Given the description of an element on the screen output the (x, y) to click on. 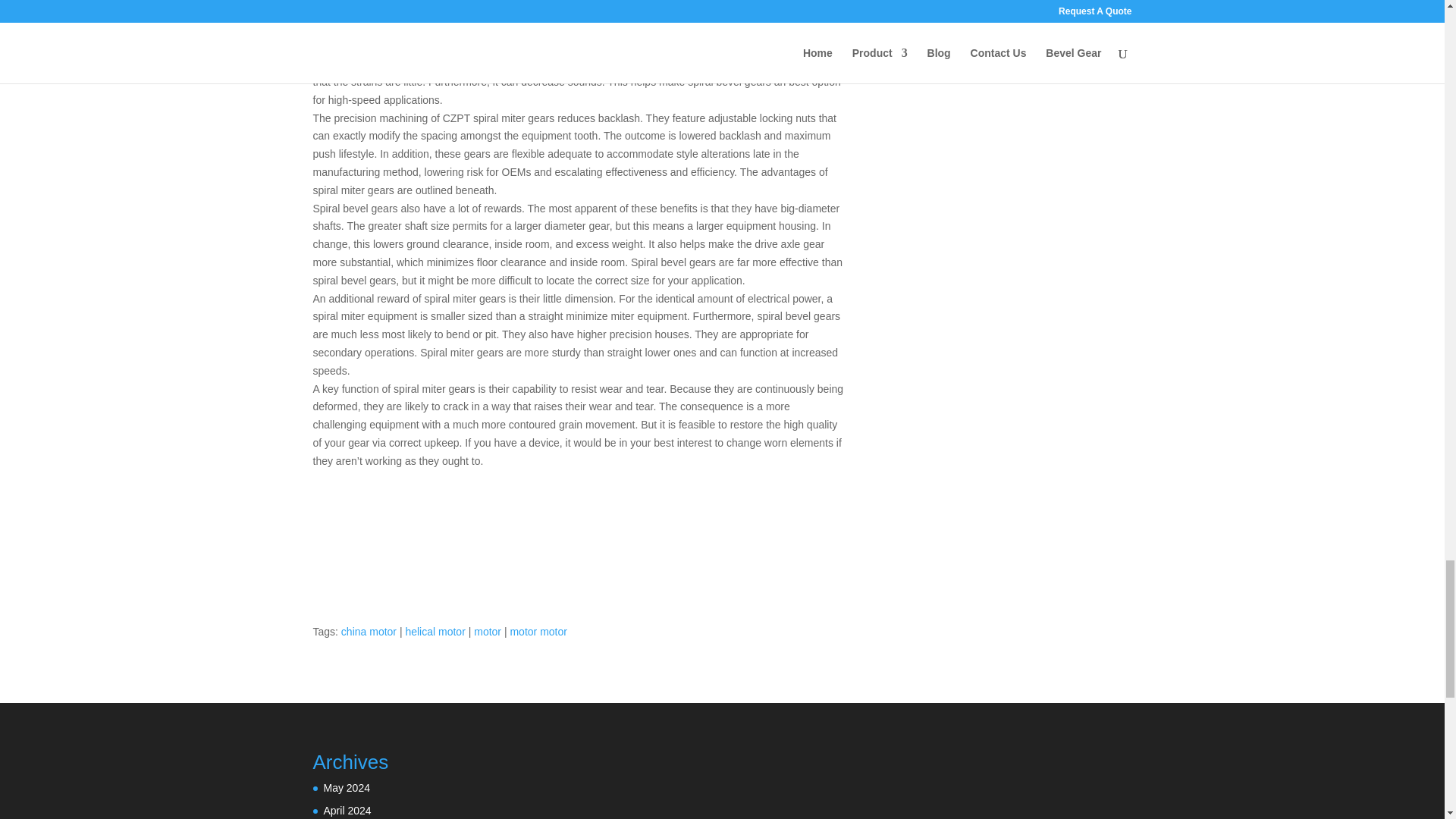
helical motor (434, 631)
china motor (368, 631)
motor motor (537, 631)
motor (487, 631)
